Given the description of an element on the screen output the (x, y) to click on. 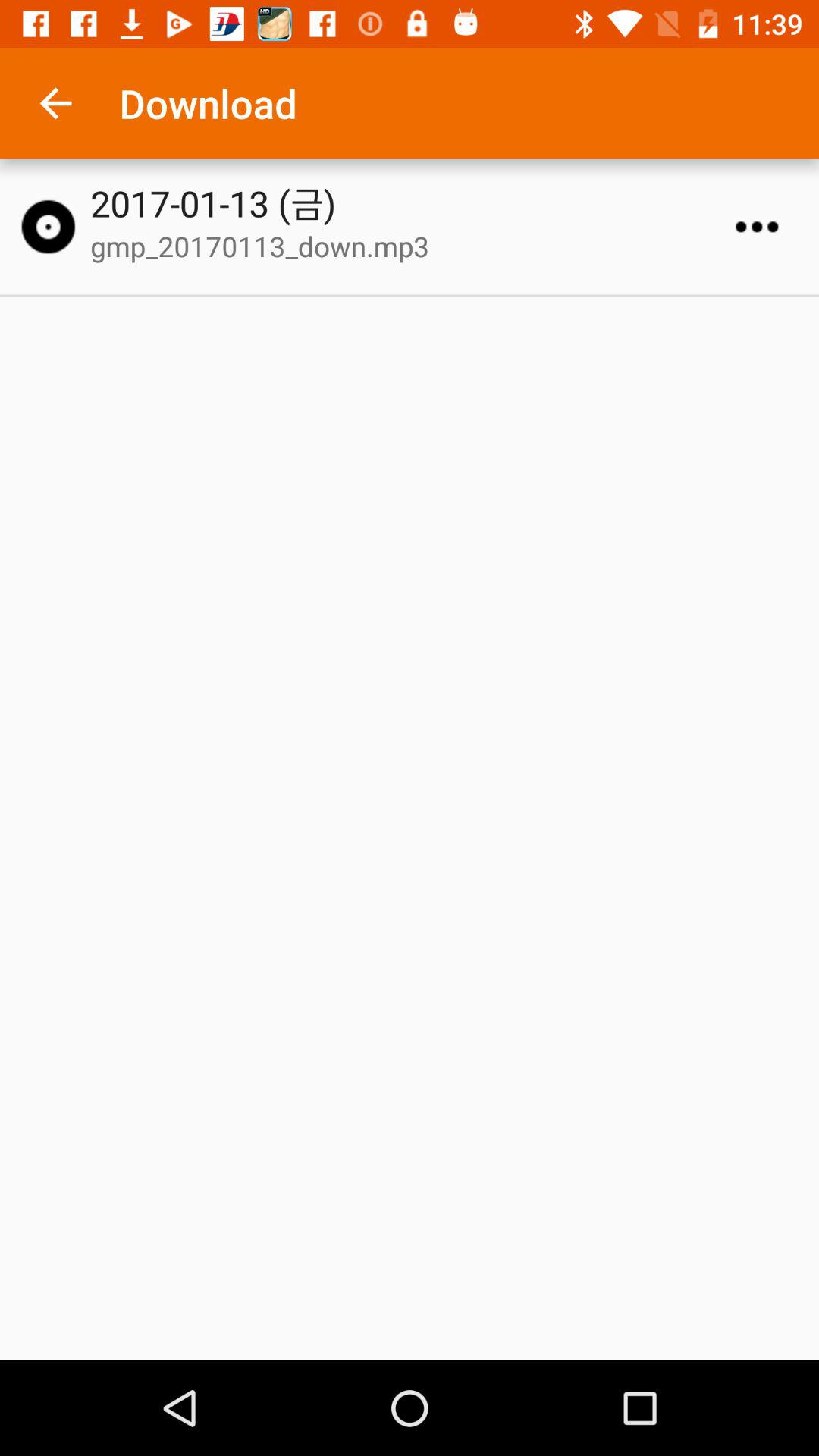
jump until the 2017 01 13 icon (416, 203)
